Given the description of an element on the screen output the (x, y) to click on. 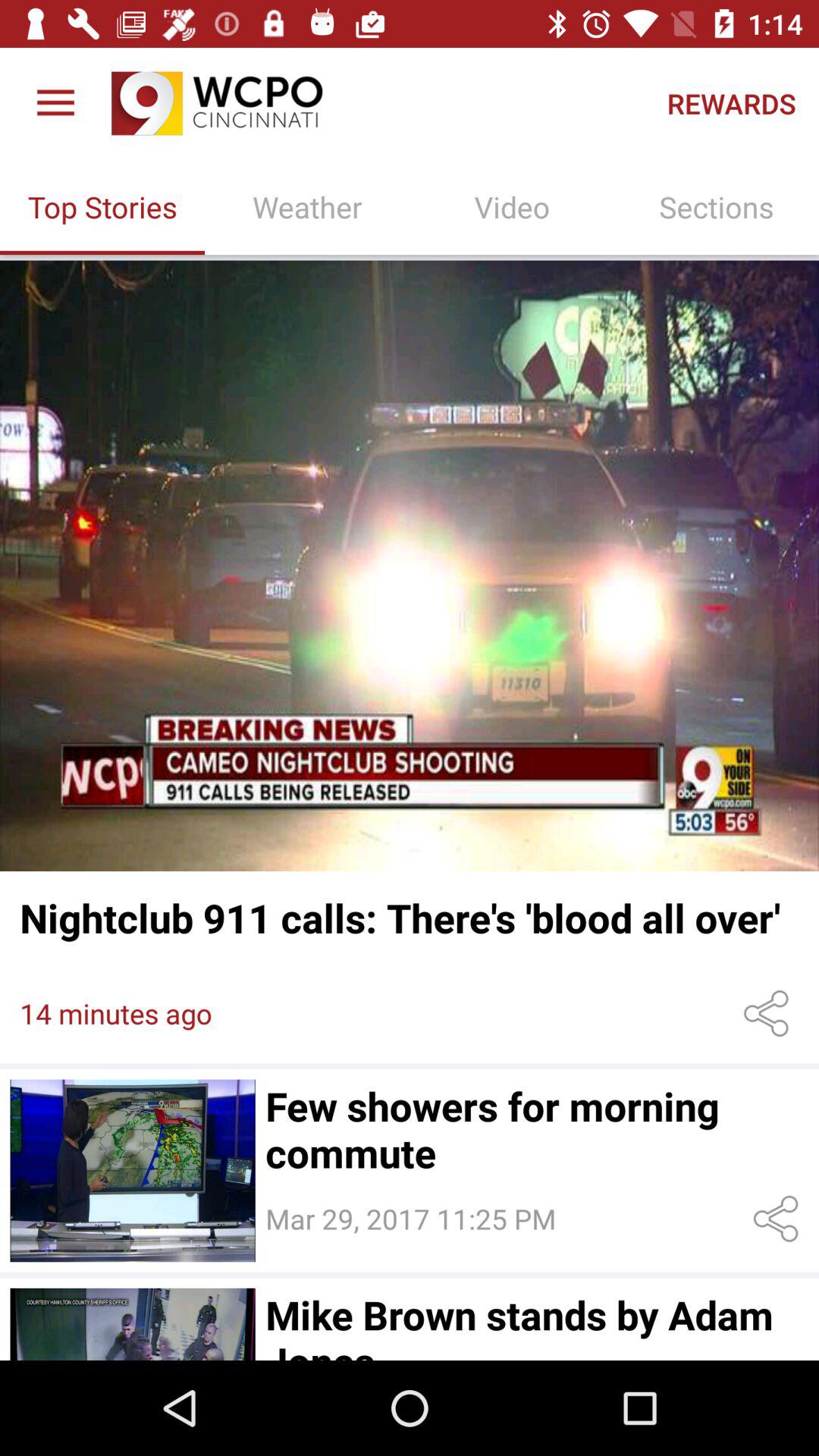
read story (409, 565)
